Given the description of an element on the screen output the (x, y) to click on. 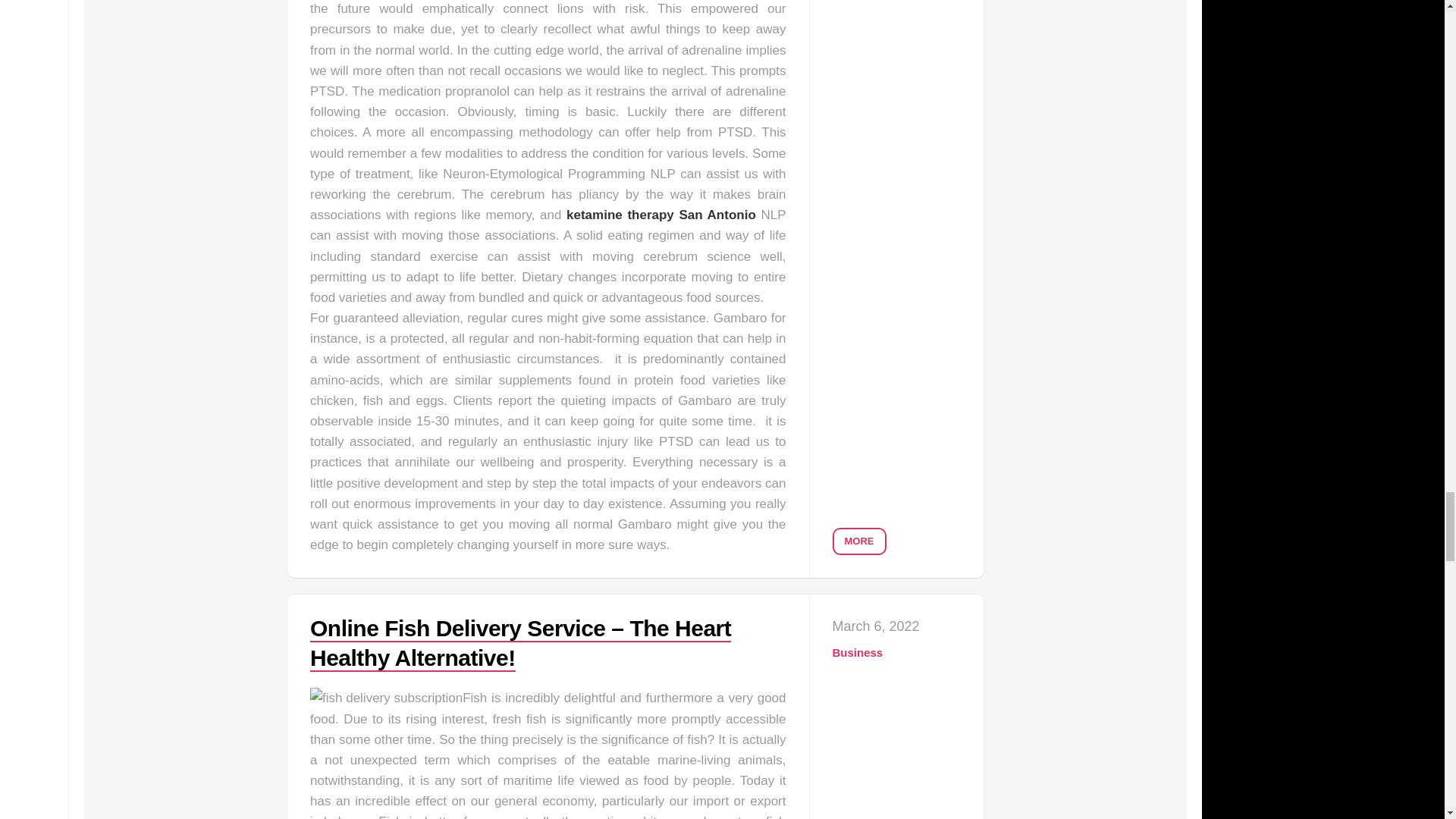
MORE (859, 541)
ketamine therapy San Antonio (660, 214)
Business (857, 652)
